Given the description of an element on the screen output the (x, y) to click on. 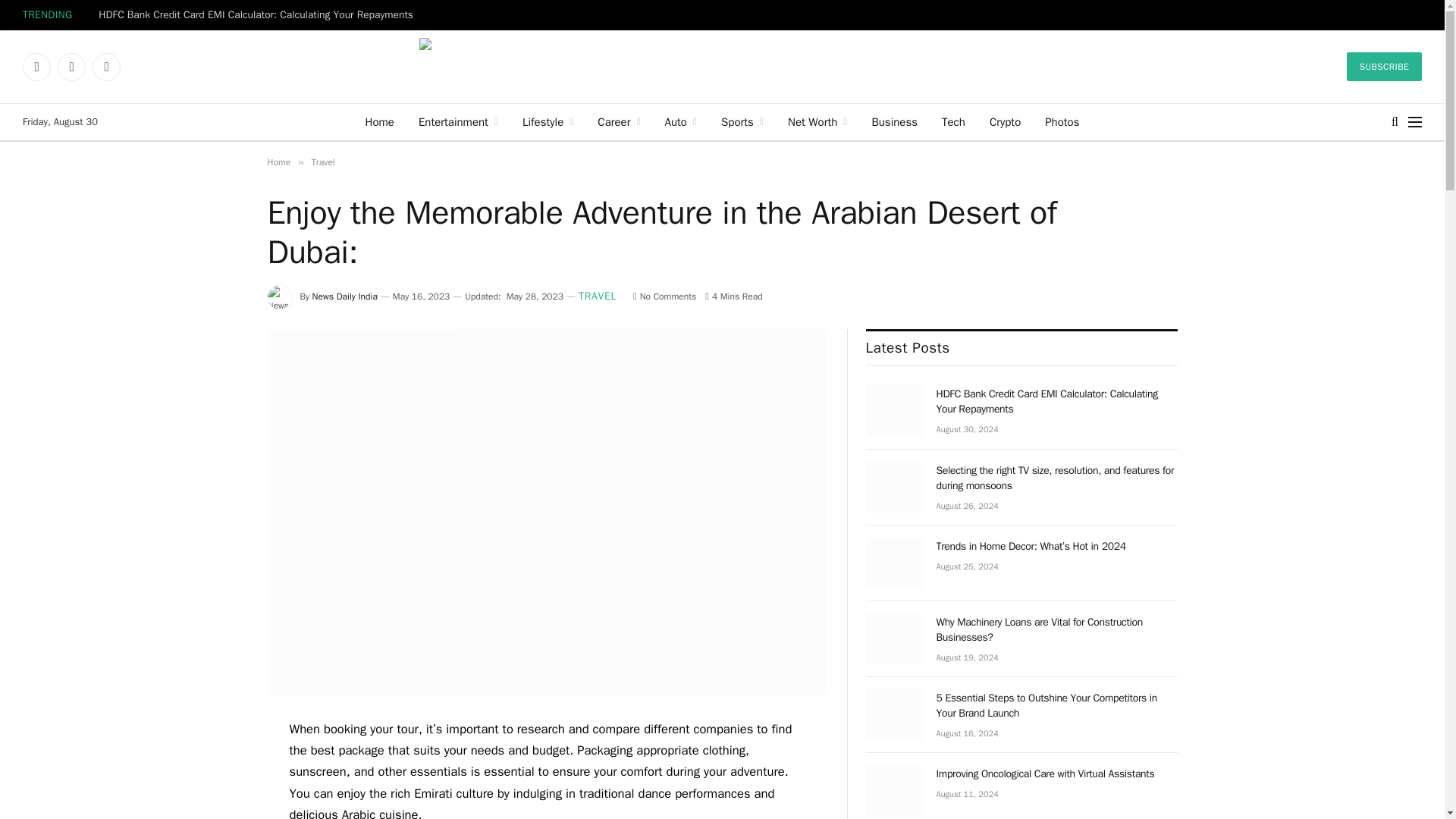
Lifestyle (548, 122)
Career (618, 122)
Posts by News Daily India (345, 296)
Entertainment (458, 122)
Facebook (36, 67)
Twitter (71, 67)
Home (379, 122)
SUBSCRIBE (1384, 66)
Instagram (106, 67)
